Given the description of an element on the screen output the (x, y) to click on. 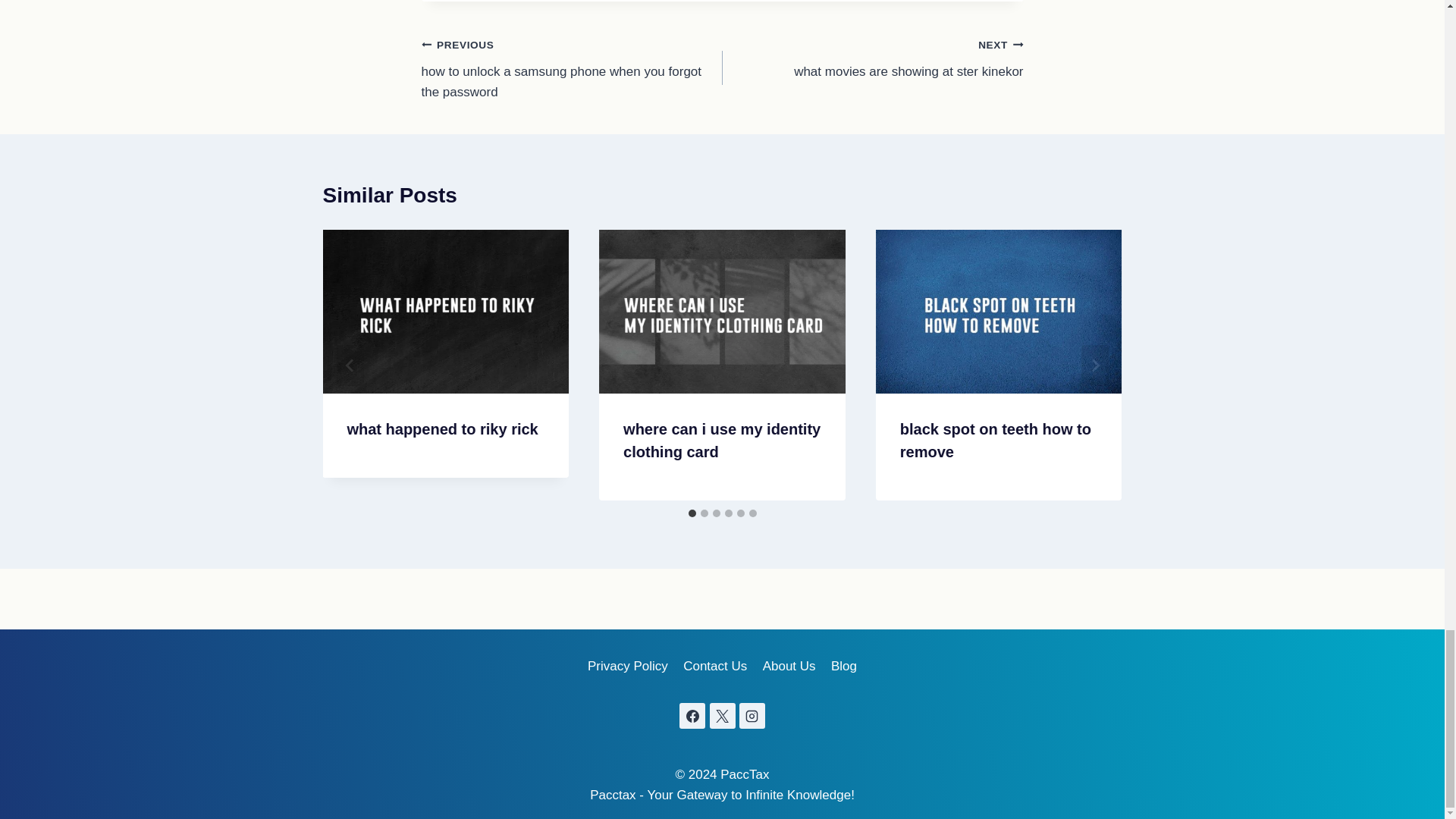
what happened to riky rick (872, 57)
black spot on teeth how to remove (441, 428)
where can i use my identity clothing card (994, 440)
